Given the description of an element on the screen output the (x, y) to click on. 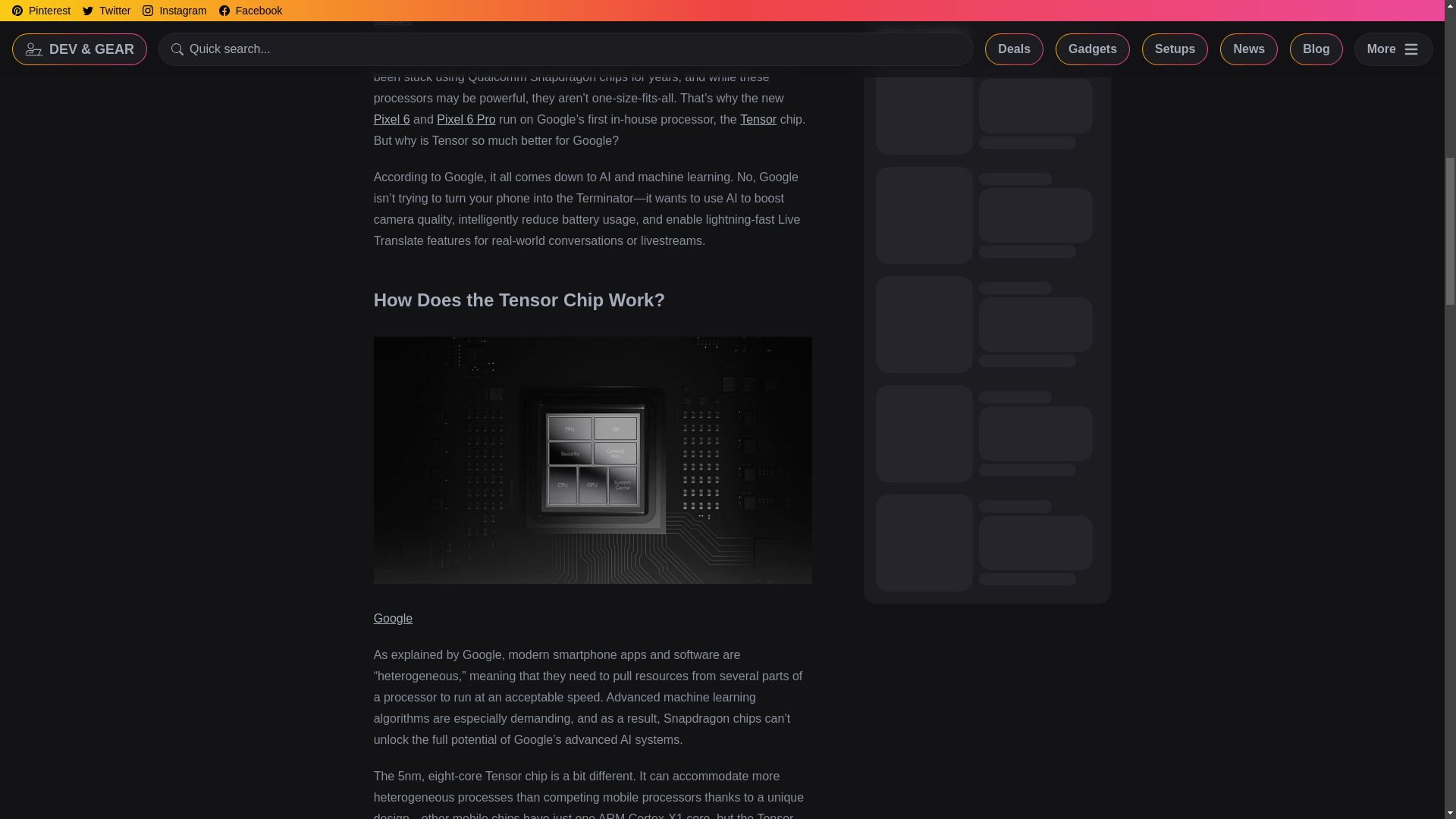
Google (393, 617)
Tensor (757, 119)
Google (393, 19)
Pixel 6 Pro (465, 119)
